Given the description of an element on the screen output the (x, y) to click on. 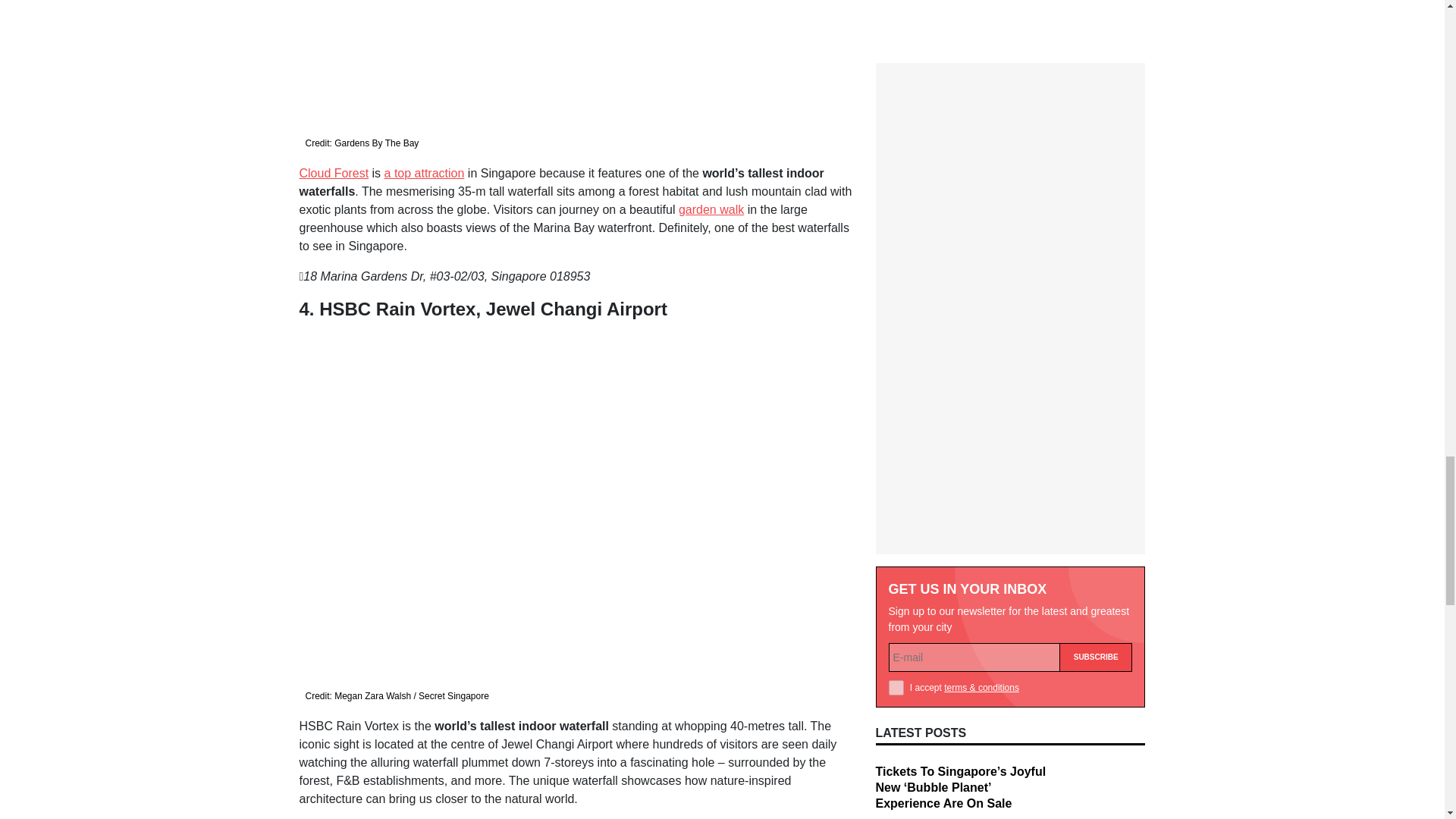
Cloud Forest (333, 173)
a top attraction (424, 173)
garden walk (711, 209)
